Given the description of an element on the screen output the (x, y) to click on. 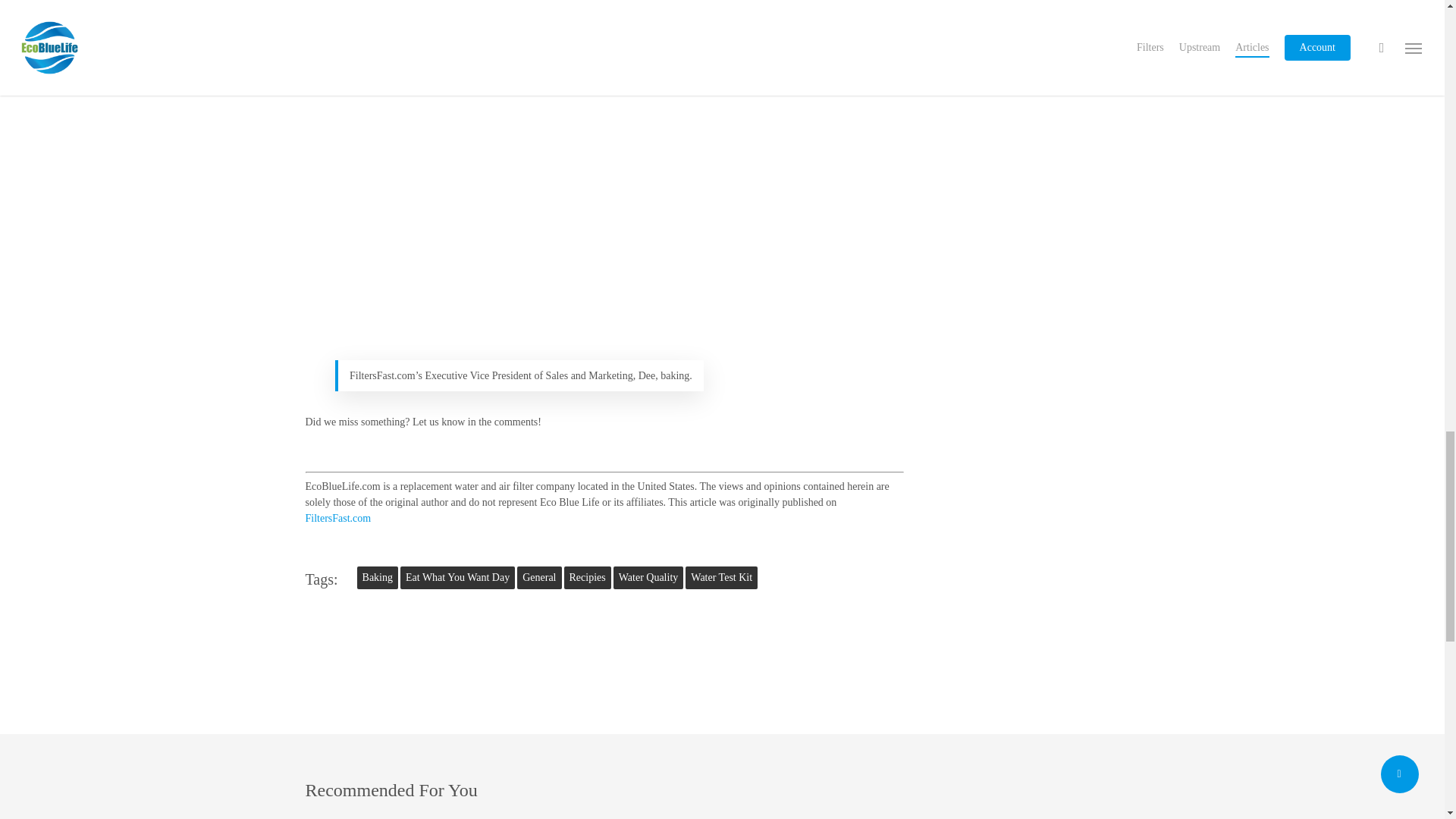
Eat What You Want Day (457, 577)
Water Test Kit (721, 577)
Baking (376, 577)
FiltersFast.com (337, 518)
Water Quality (648, 577)
General (538, 577)
Recipies (587, 577)
